Given the description of an element on the screen output the (x, y) to click on. 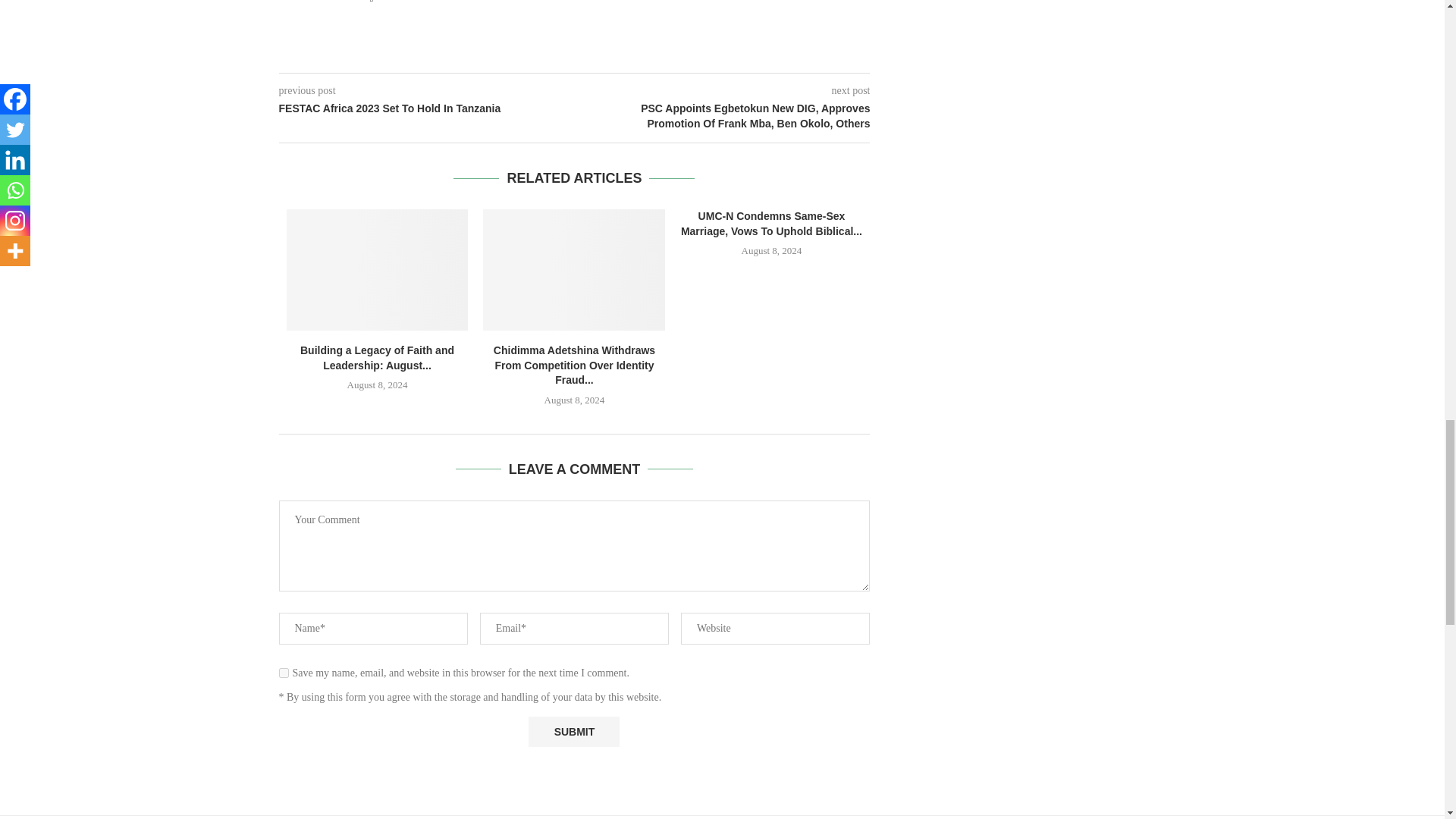
Submit (574, 731)
yes (283, 673)
